Given the description of an element on the screen output the (x, y) to click on. 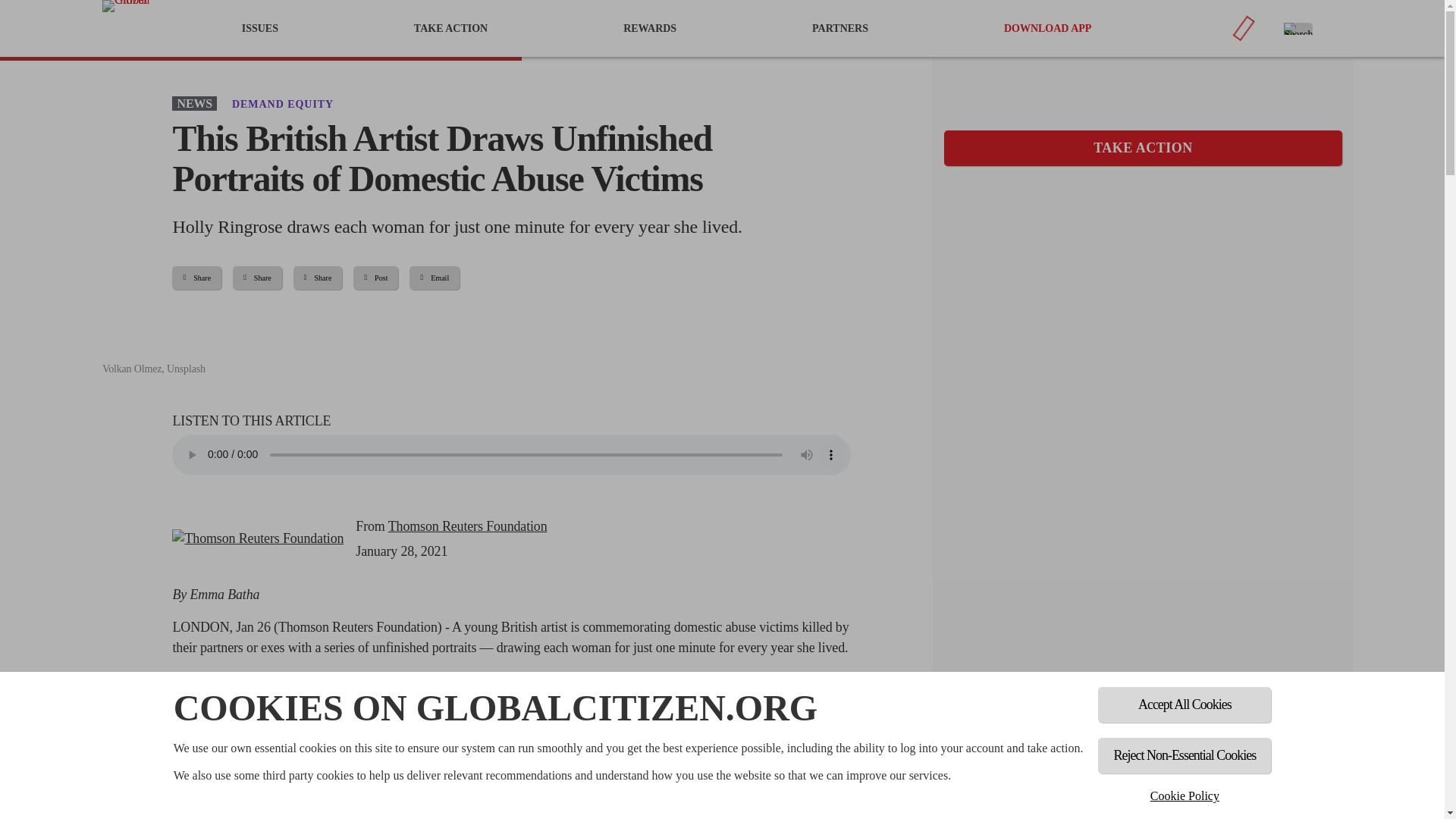
Share (196, 277)
Email (434, 277)
TAKE ACTION (1142, 148)
Post (375, 277)
Thomson Reuters Foundation (257, 538)
Share (318, 277)
TAKE ACTION (451, 28)
DEMAND EQUITY (282, 103)
Demand Equity (282, 103)
